Given the description of an element on the screen output the (x, y) to click on. 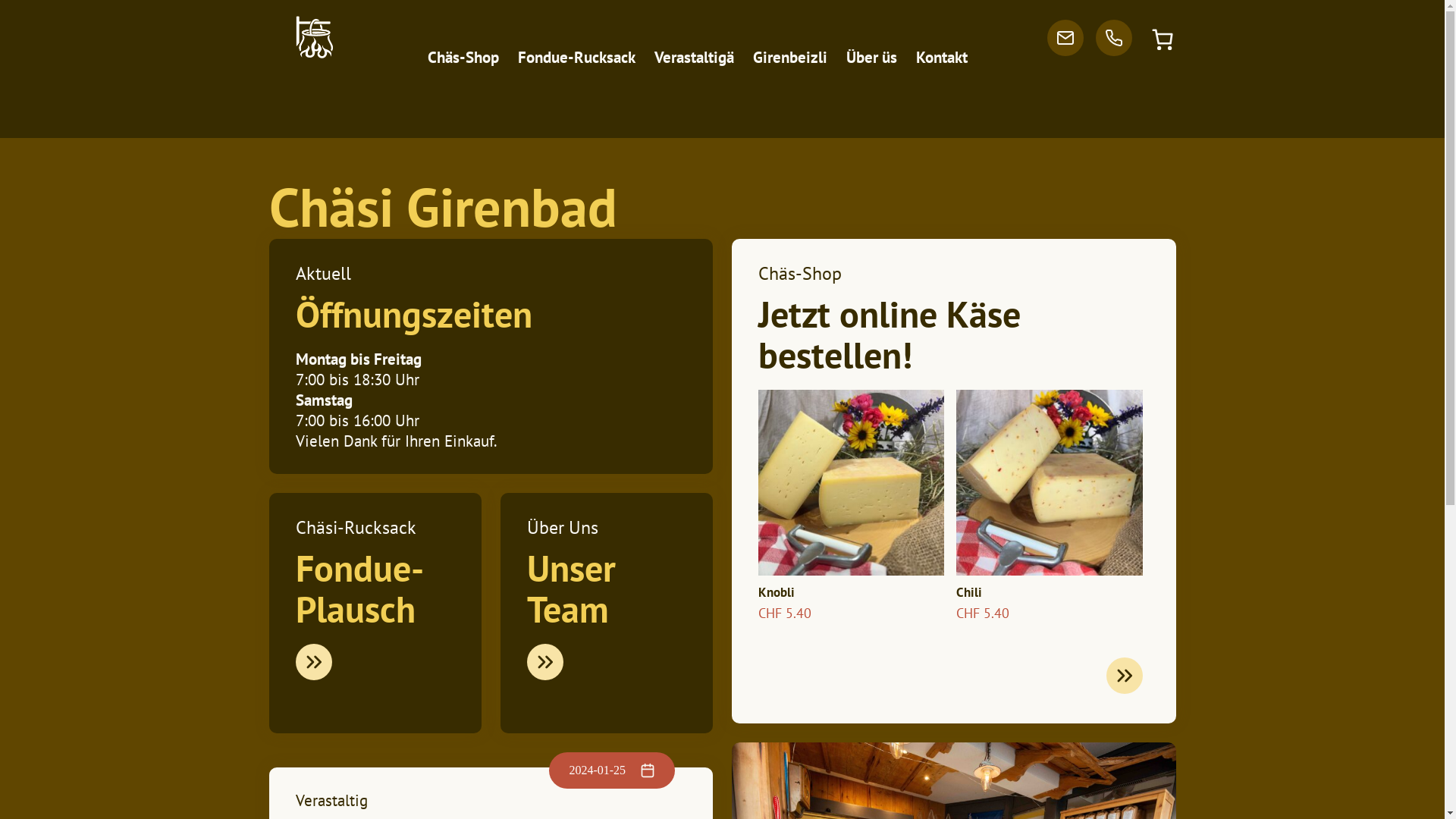
Kontakt Element type: text (941, 57)
Chili Element type: text (1049, 494)
Link Element type: text (313, 661)
Link Element type: text (545, 661)
Girenbeizli Element type: text (790, 57)
Fondue-Rucksack Element type: text (576, 57)
Knobli Element type: text (851, 494)
